Given the description of an element on the screen output the (x, y) to click on. 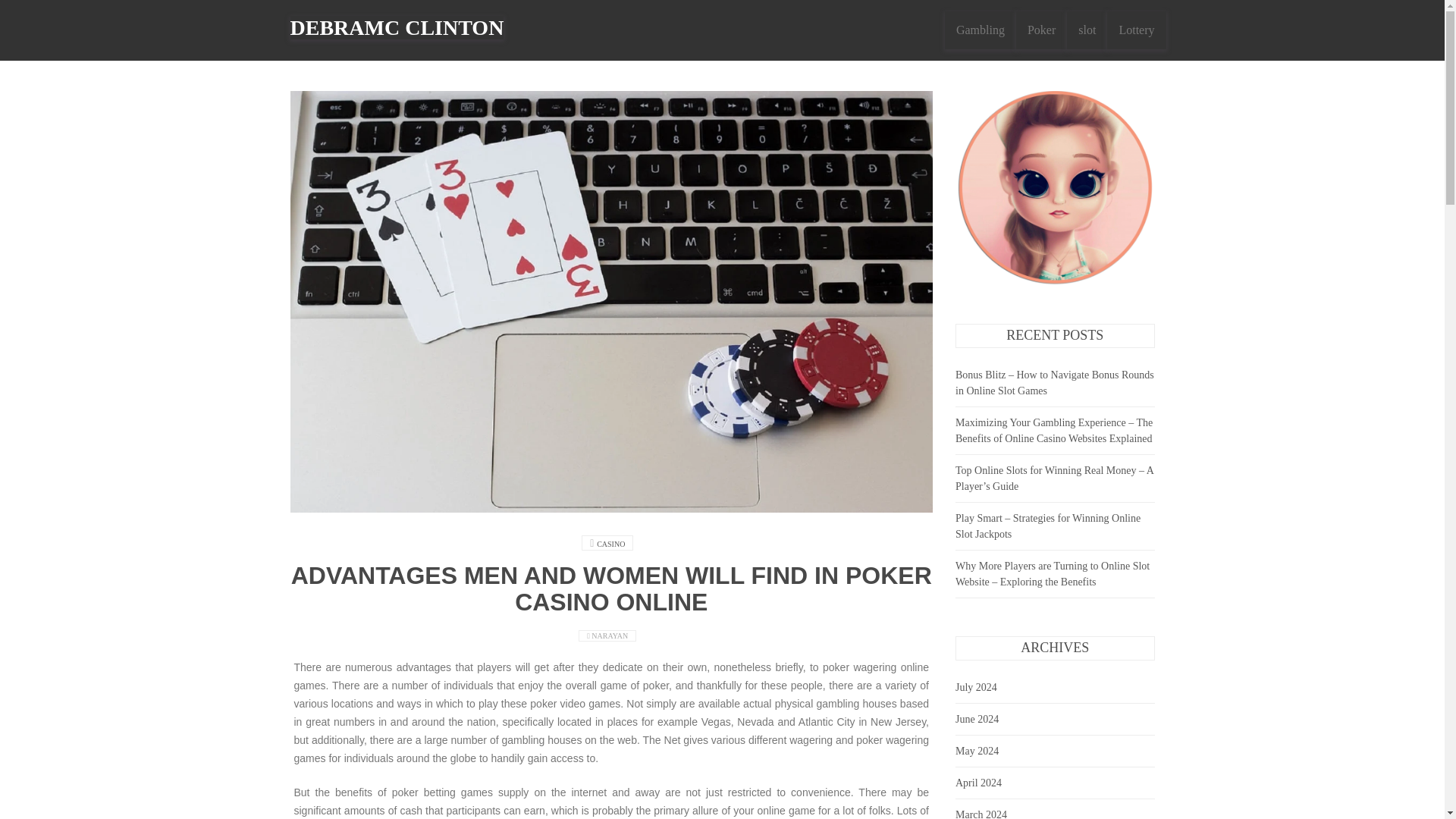
Poker (1041, 30)
May 2024 (976, 750)
Poker (1041, 30)
July 2024 (976, 686)
Gambling (980, 30)
March 2024 (981, 814)
DEBRAMC CLINTON (396, 27)
slot (1086, 30)
NARAYAN (610, 635)
CASINO (610, 543)
Lottery (1136, 30)
June 2024 (976, 718)
Gambling (980, 30)
April 2024 (978, 782)
